Given the description of an element on the screen output the (x, y) to click on. 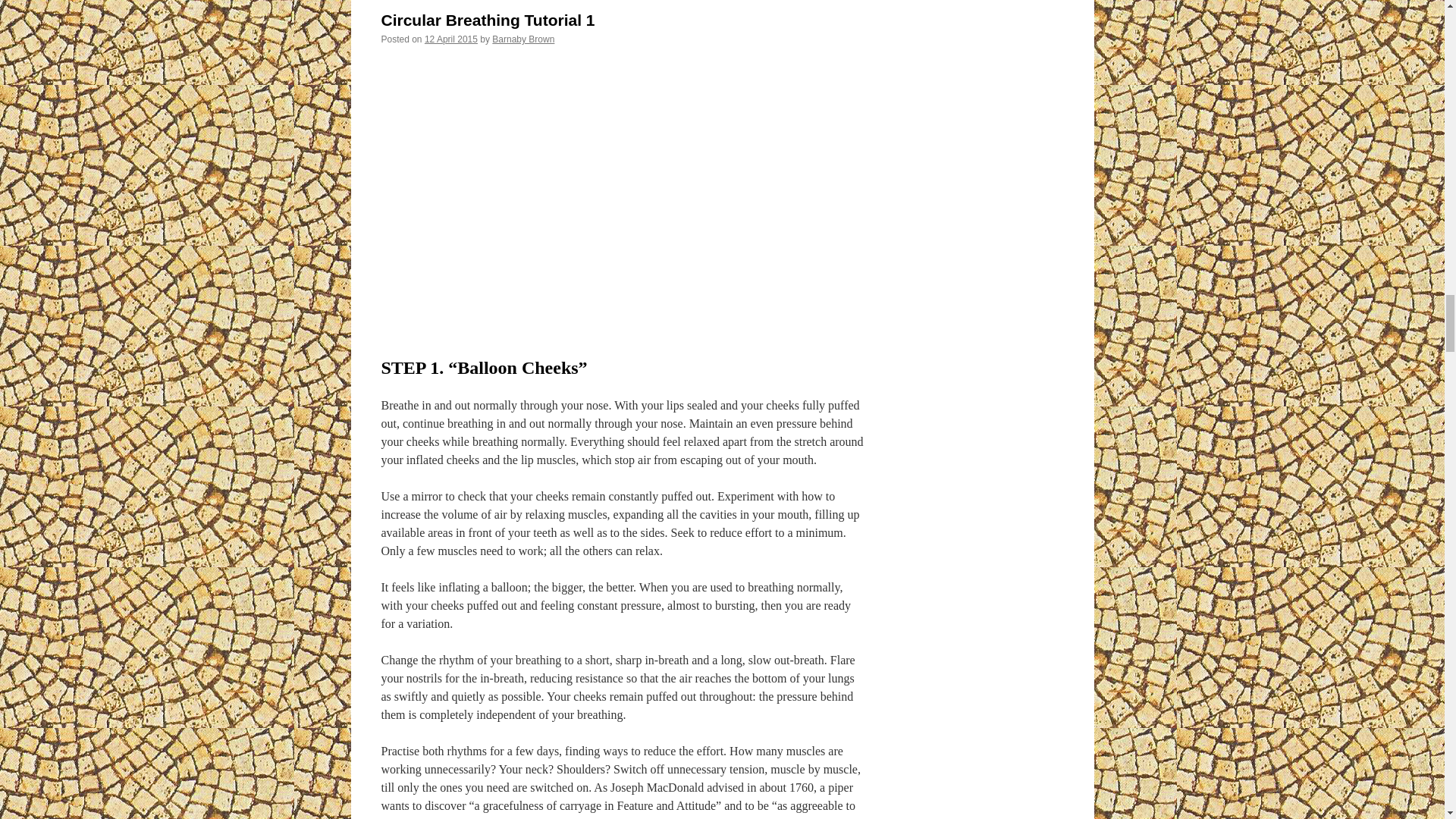
View all posts by Barnaby Brown (523, 39)
08:34 (451, 39)
Circular Breathing Tutorial 1 (623, 193)
